Given the description of an element on the screen output the (x, y) to click on. 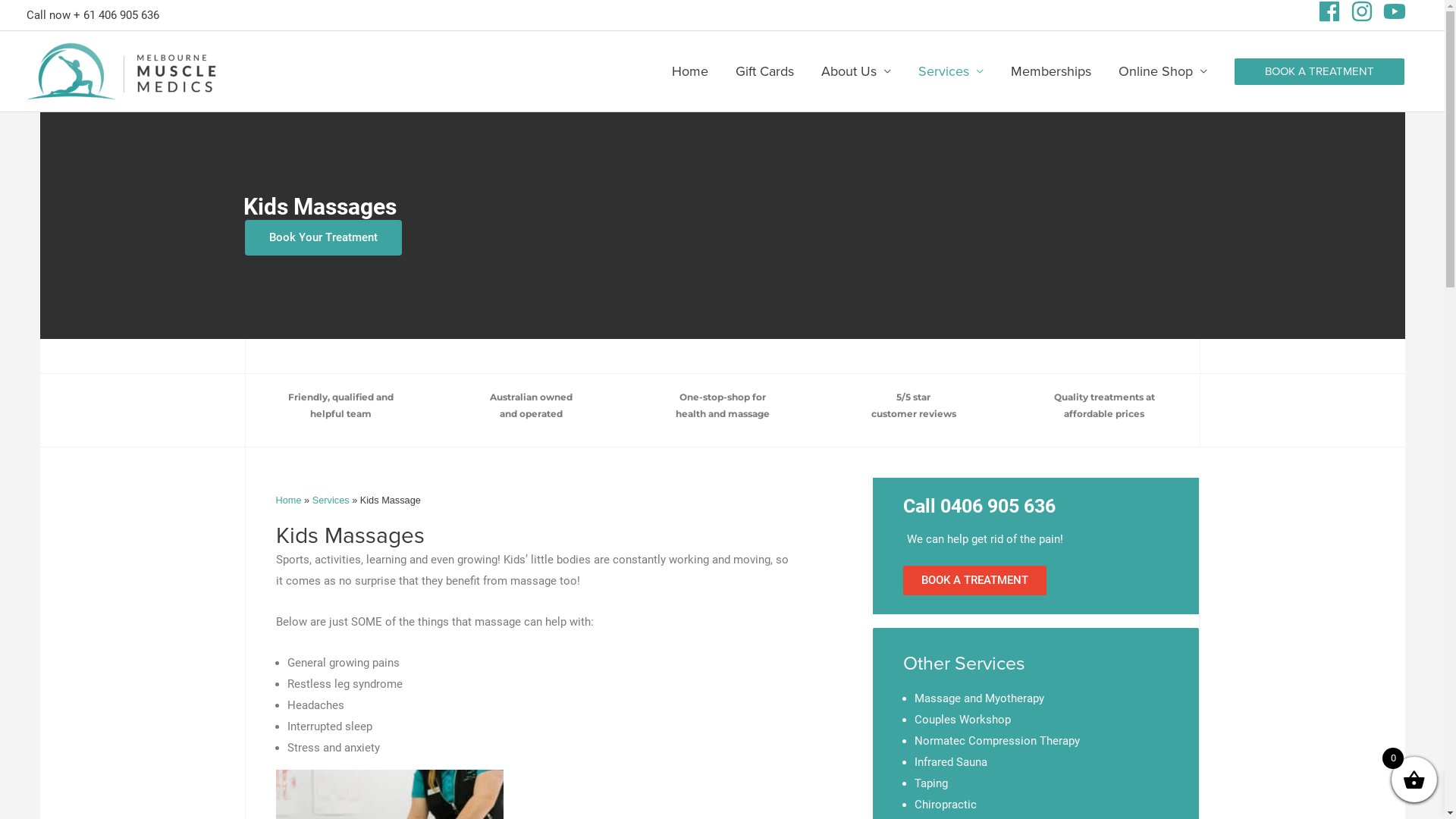
Home Element type: text (288, 499)
Infrared Sauna Element type: text (950, 761)
Chiropractic Element type: text (945, 804)
Memberships Element type: text (1050, 71)
BOOK A TREATMENT Element type: text (974, 580)
Normatec Compression Therapy Element type: text (996, 740)
About Us Element type: text (855, 71)
Book Your Treatment Element type: text (322, 237)
Home Element type: text (689, 71)
Services Element type: text (330, 499)
Online Shop Element type: text (1162, 71)
Services Element type: text (950, 71)
Massage and Myotherapy Element type: text (979, 698)
Gift Cards Element type: text (764, 71)
BOOK A TREATMENT Element type: text (1319, 70)
Couples Workshop Element type: text (962, 719)
Taping Element type: text (930, 783)
